Given the description of an element on the screen output the (x, y) to click on. 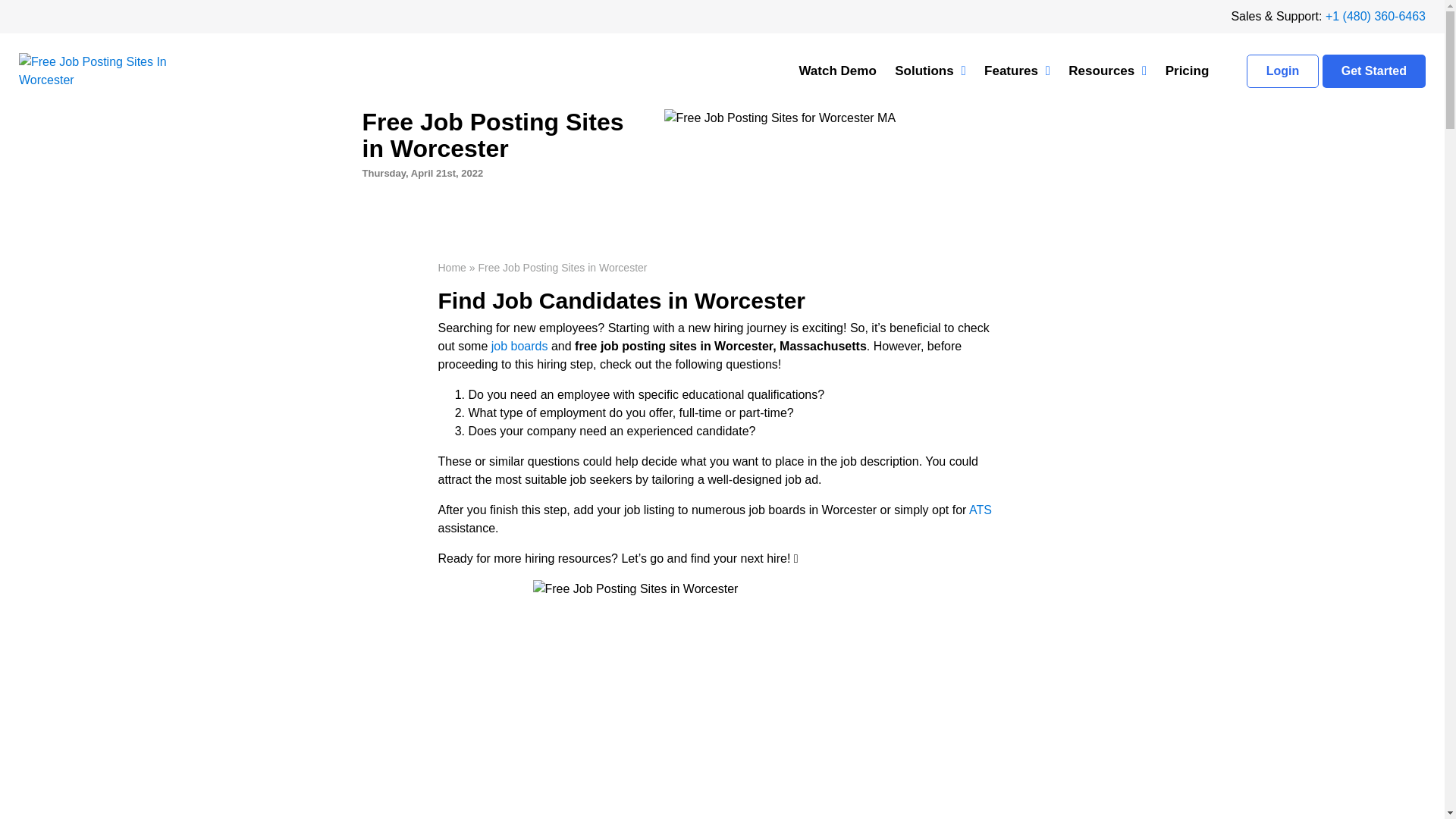
Solutions (929, 71)
Free Job Posting Sites In Worcester (113, 71)
Resources (1107, 71)
Watch Demo (836, 71)
Free Job Posting Sites For Worcester Ma (779, 117)
Features (1017, 71)
Free Job Posting Sites In Worcester (721, 699)
